Given the description of an element on the screen output the (x, y) to click on. 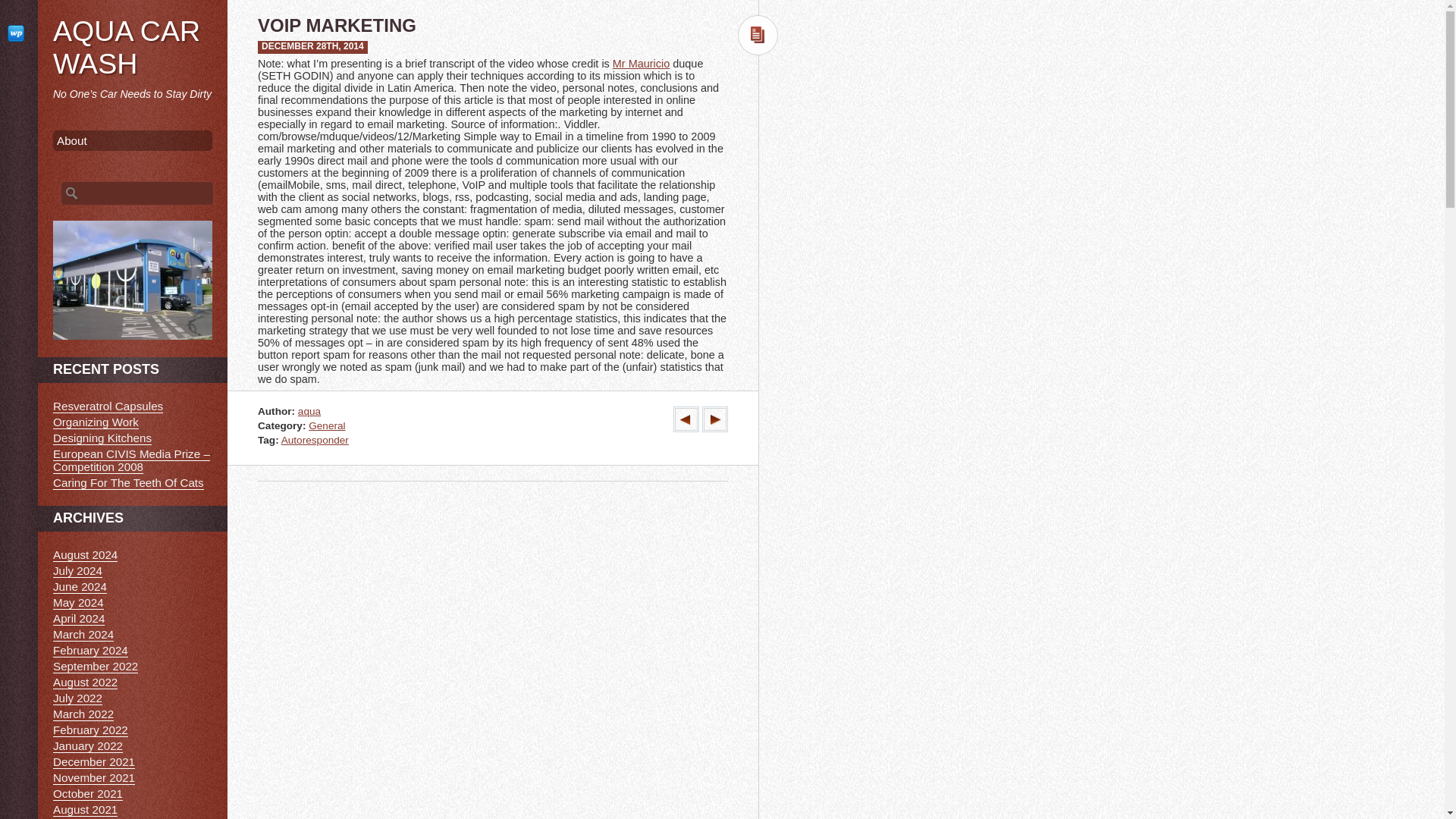
December 2021 (93, 762)
February 2024 (90, 650)
September 2022 (95, 666)
General (326, 425)
Search (21, 7)
About (132, 140)
Caring For The Teeth Of Cats (127, 482)
October 2021 (87, 793)
February 2022 (90, 730)
Design by StylishWP (18, 32)
May 2024 (77, 602)
AQUA CAR WASH (126, 47)
Resveratrol Capsules (107, 406)
January 2022 (87, 745)
Autoresponder (315, 439)
